Given the description of an element on the screen output the (x, y) to click on. 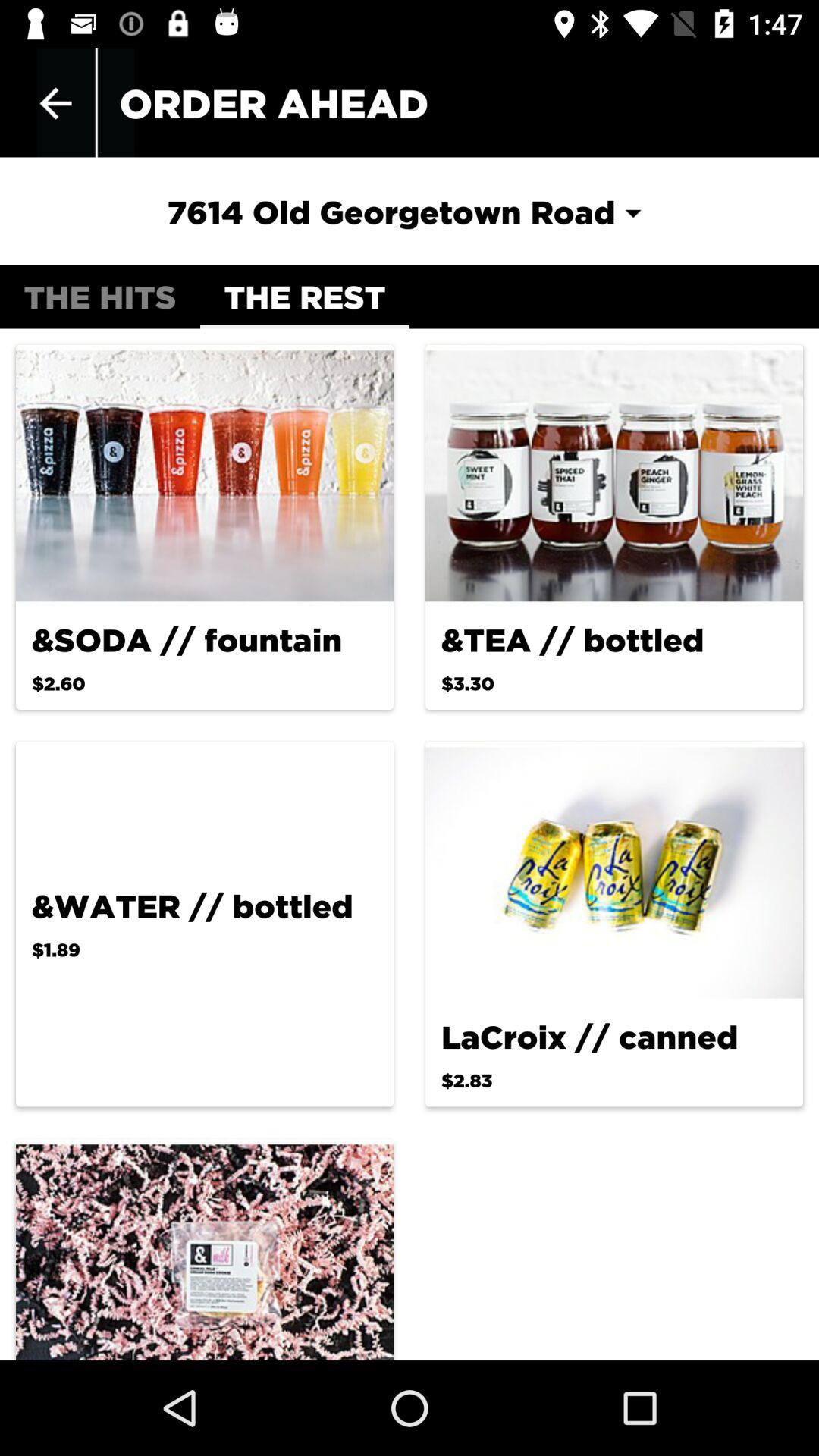
choose the item below the order ahead item (409, 212)
